Given the description of an element on the screen output the (x, y) to click on. 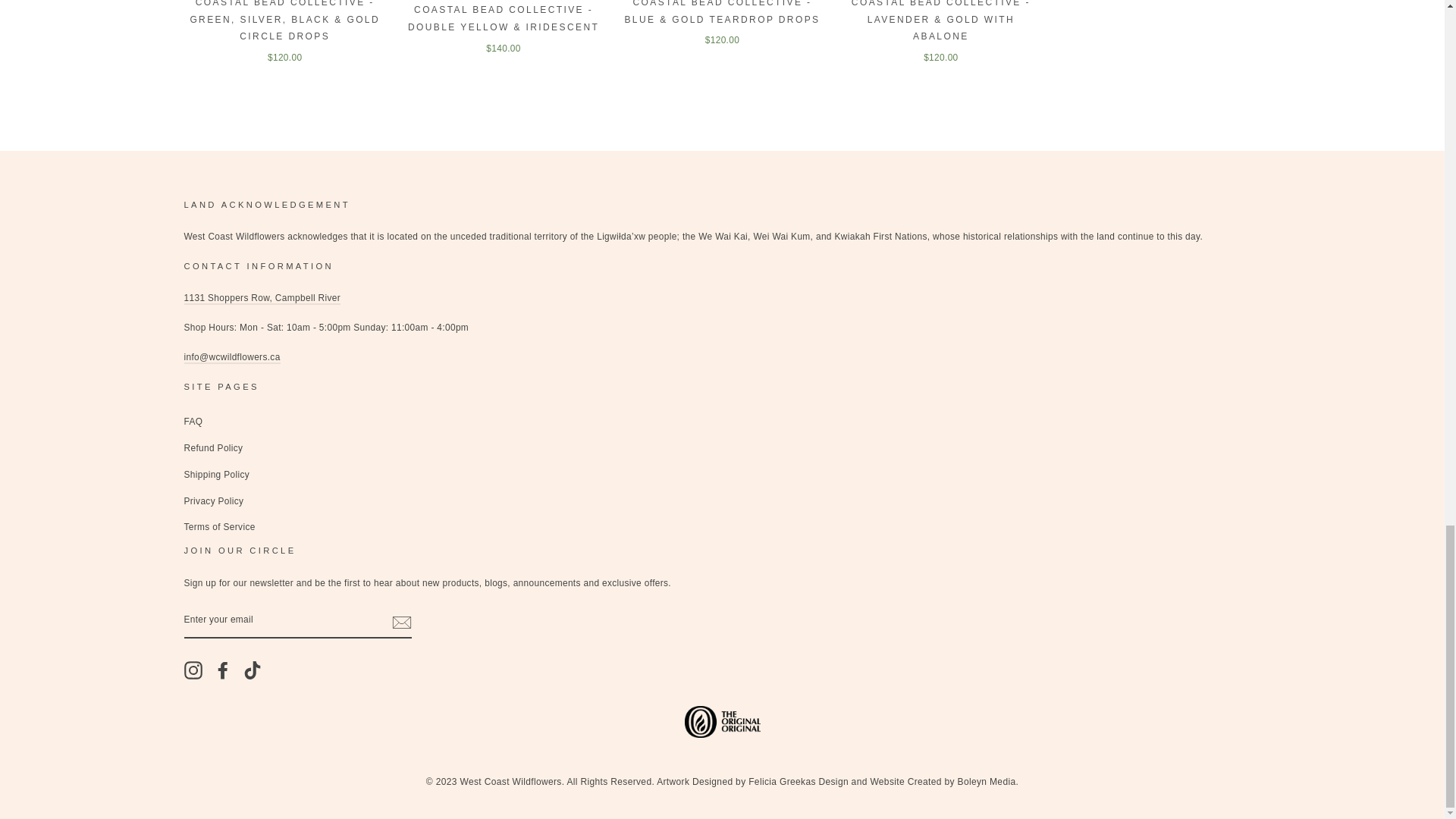
West Coast Wildflowers on TikTok (251, 669)
West Coast Wildflowers on Instagram (192, 669)
West Coast Wildflowers on Facebook (222, 669)
